Given the description of an element on the screen output the (x, y) to click on. 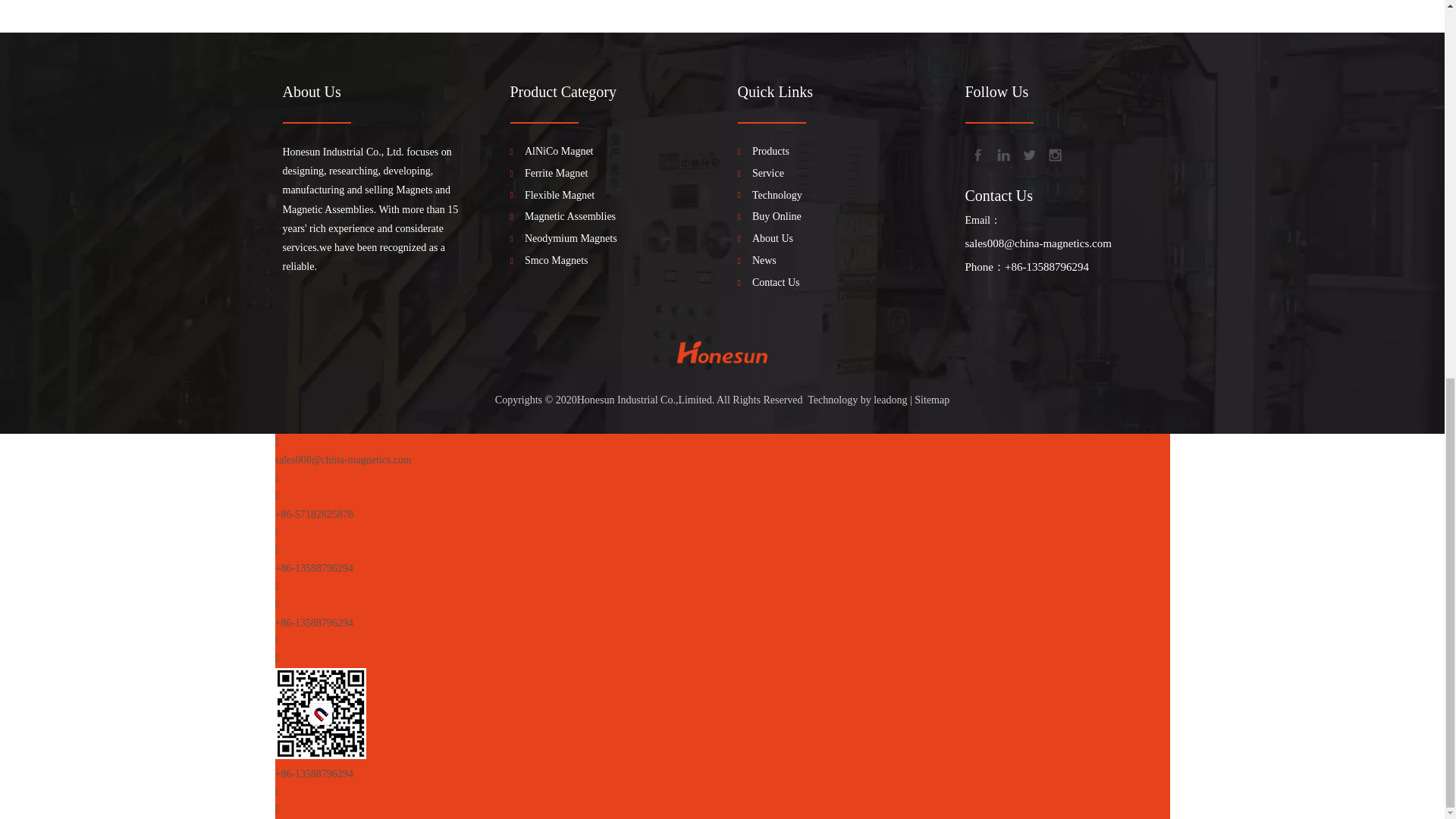
Products (770, 151)
Magnetic Assemblies (569, 217)
Neodymium Magnets (570, 239)
Products (770, 151)
Magnetic Assemblies (569, 217)
Smco Magnets (556, 260)
Flexible Magnet (559, 195)
Smco Magnets (556, 260)
Flexible Magnet (559, 195)
Neodymium Magnets (570, 239)
Ferrite Magnet (556, 173)
AlNiCo Magnet (559, 151)
Ferrite Magnet (556, 173)
AlNiCo Magnet (559, 151)
